Given the description of an element on the screen output the (x, y) to click on. 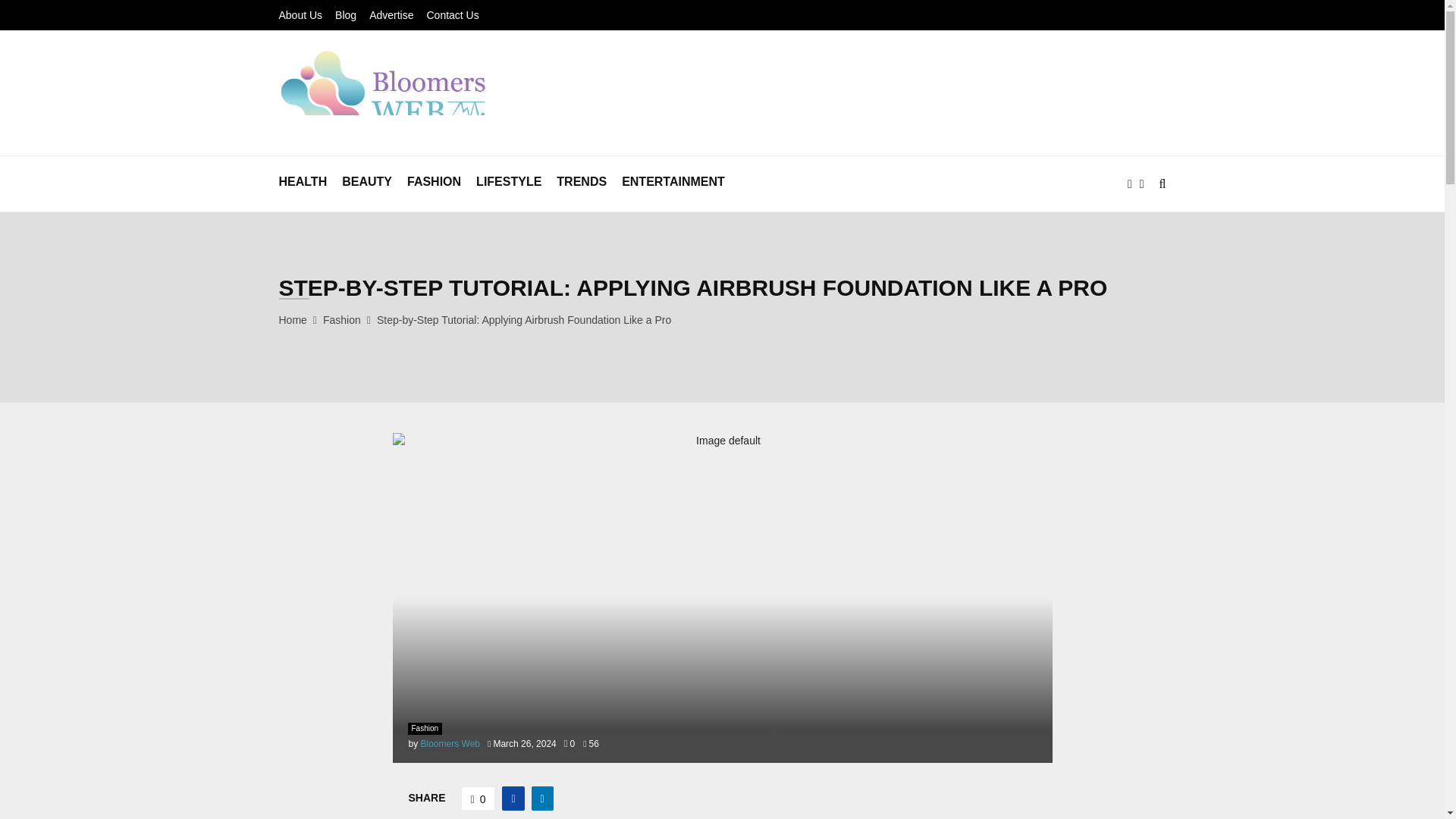
TRENDS (581, 183)
Fashion (424, 728)
Advertise (391, 15)
ENTERTAINMENT (673, 183)
Like (478, 798)
About Us (301, 15)
HEALTH (303, 183)
Blog (345, 15)
FASHION (434, 183)
Contact Us (452, 15)
Home (293, 319)
0 (478, 798)
Bloomers Web (450, 743)
LIFESTYLE (508, 183)
